Given the description of an element on the screen output the (x, y) to click on. 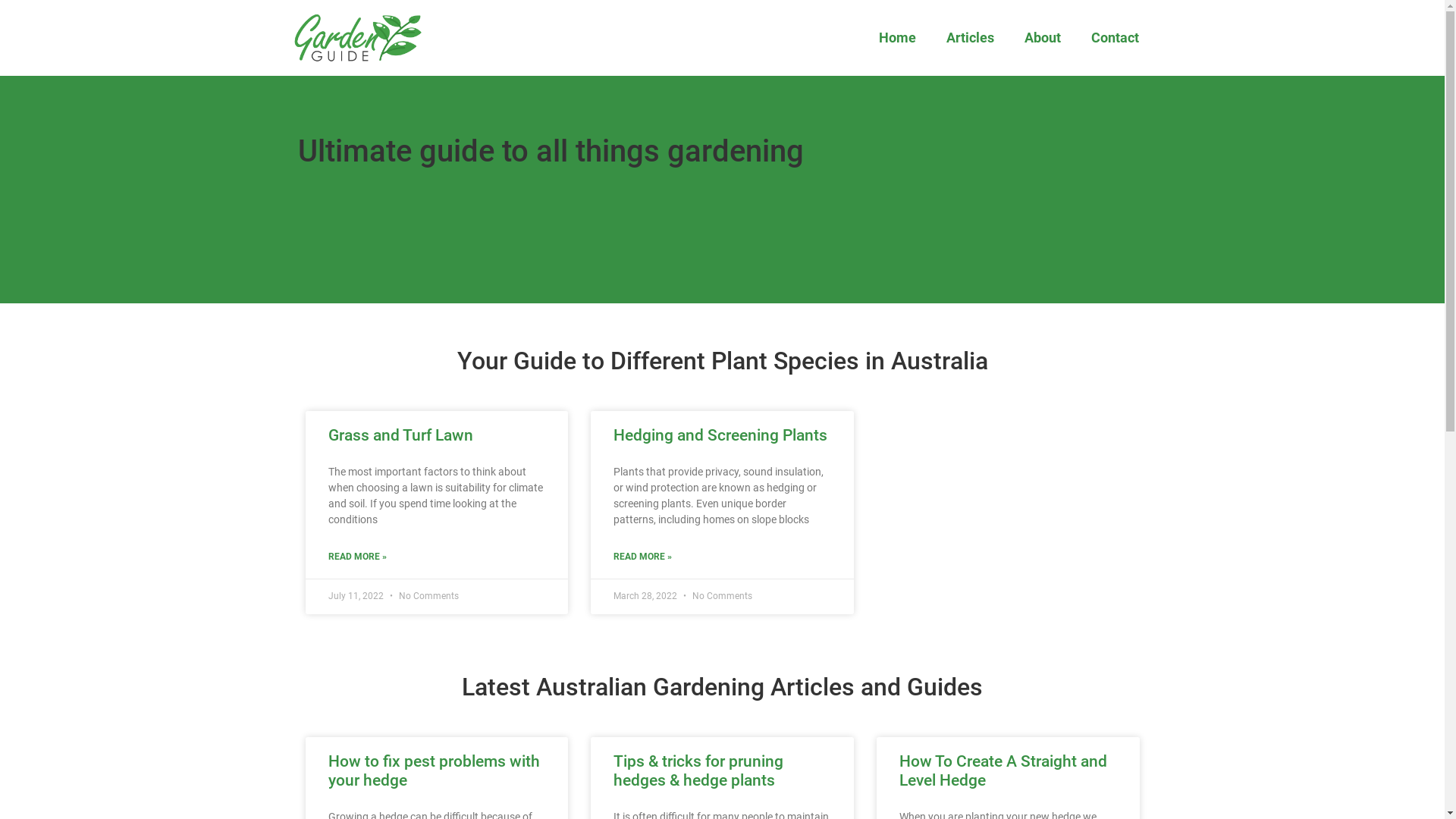
Grass and Turf Lawn Element type: text (399, 435)
How to fix pest problems with your hedge Element type: text (433, 770)
How To Create A Straight and Level Hedge Element type: text (1003, 770)
About Element type: text (1042, 37)
Contact Element type: text (1115, 37)
Tips & tricks for pruning hedges & hedge plants Element type: text (698, 770)
Hedging and Screening Plants Element type: text (720, 435)
Home Element type: text (897, 37)
Articles Element type: text (970, 37)
